Given the description of an element on the screen output the (x, y) to click on. 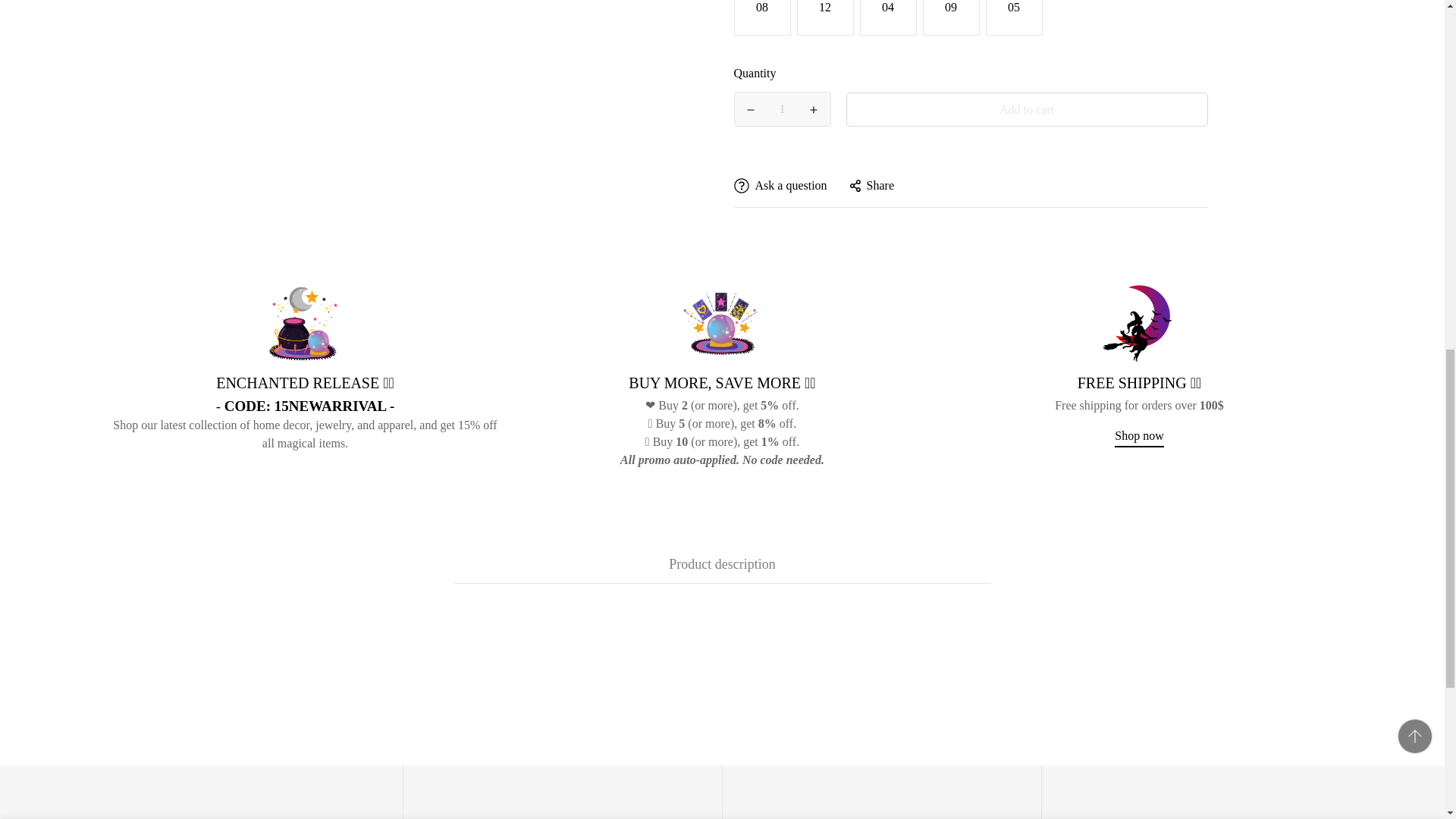
NEWEST PRODUCTS (304, 406)
1 (955, 28)
